Given the description of an element on the screen output the (x, y) to click on. 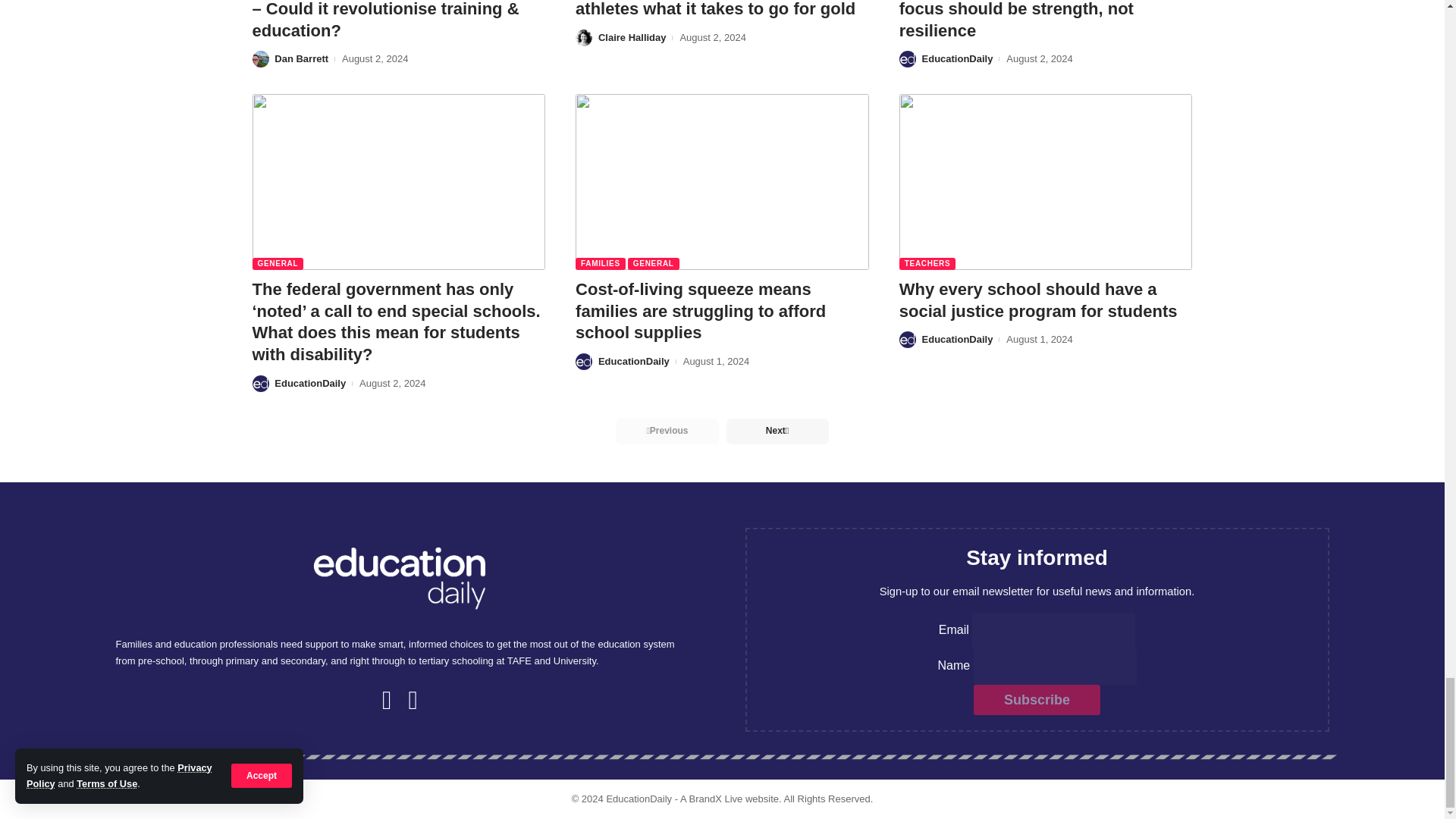
Subscribe (1037, 699)
